Given the description of an element on the screen output the (x, y) to click on. 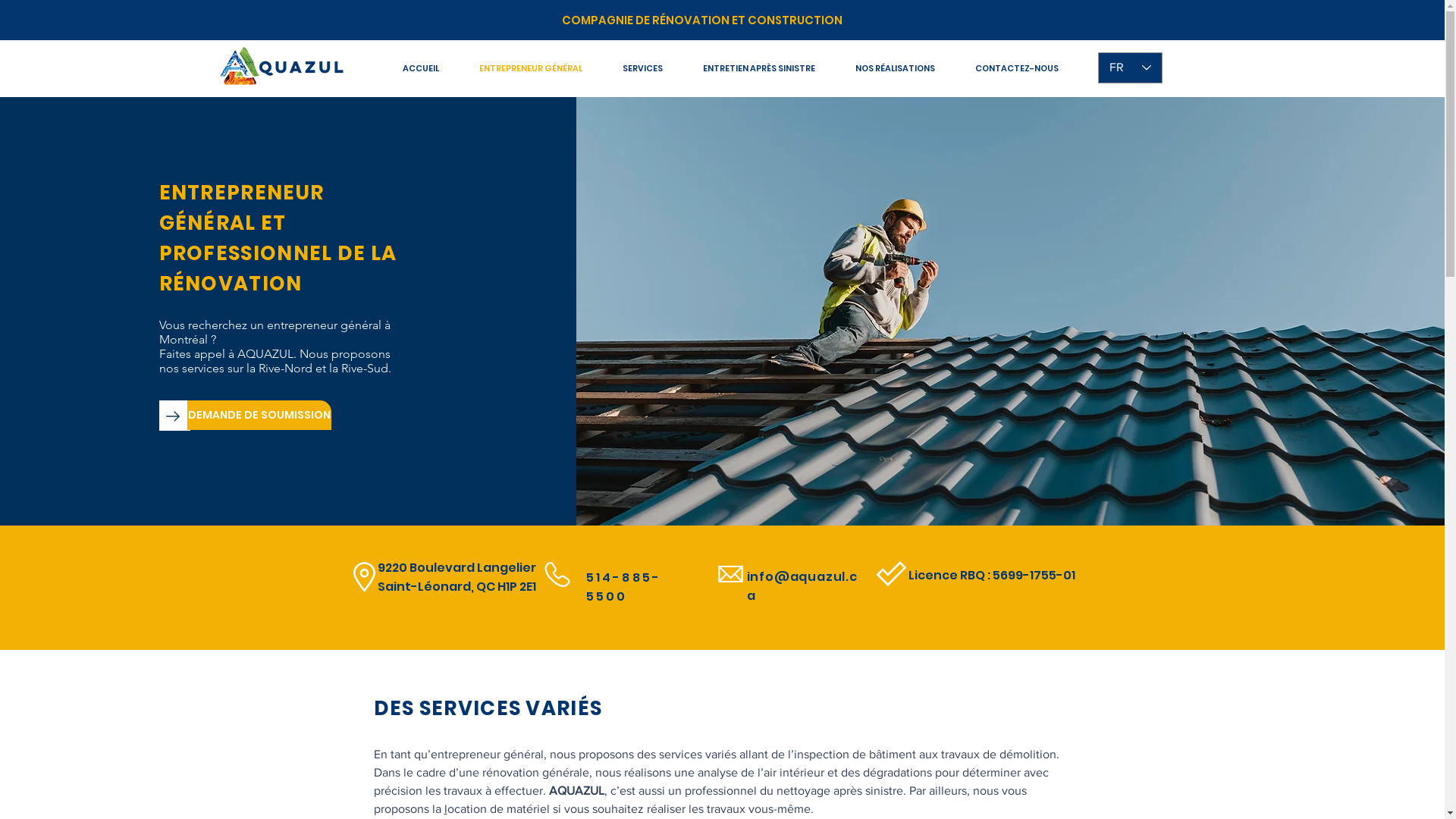
CONTACTEZ-NOUS Element type: text (1017, 68)
514-885-5500 Element type: text (623, 586)
DEMANDE DE SOUMISSION Element type: text (259, 414)
l Element type: text (445, 808)
info@aquazul.ca Element type: text (801, 585)
ACCUEIL Element type: text (420, 68)
